Given the description of an element on the screen output the (x, y) to click on. 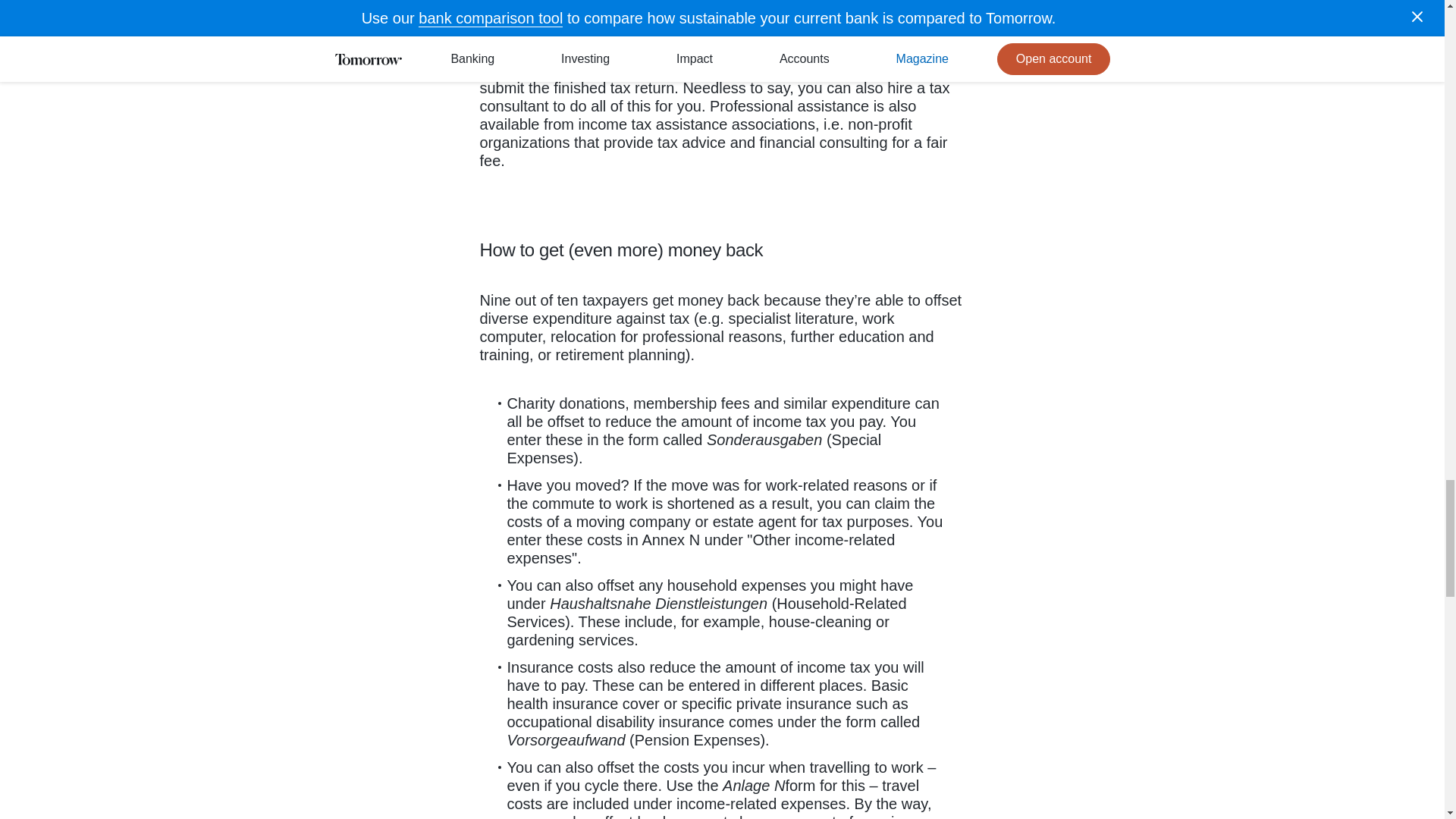
Wundertax (879, 14)
Taxfix (508, 33)
Steuerbot (781, 14)
ELSTER (593, 2)
